Given the description of an element on the screen output the (x, y) to click on. 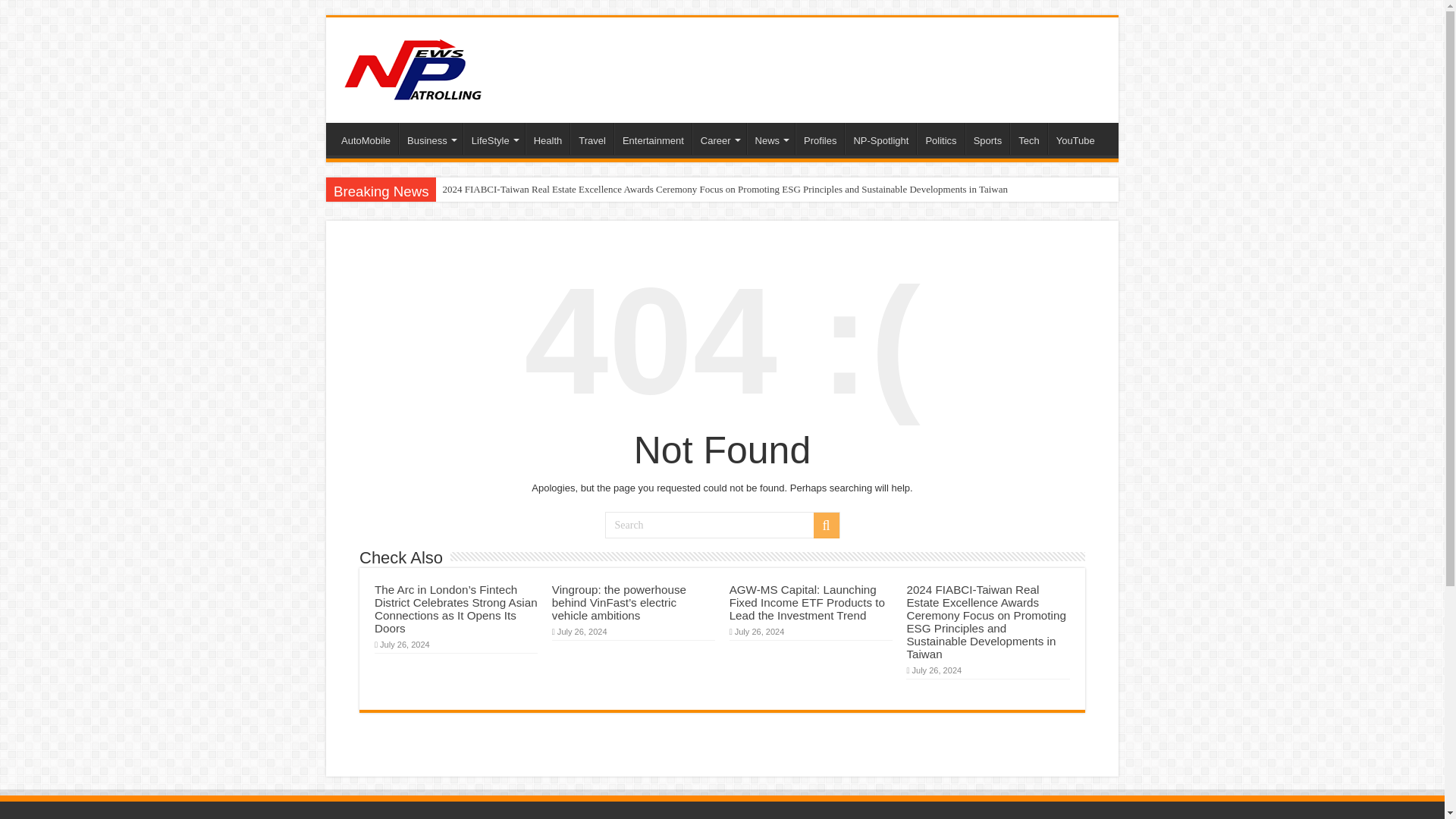
AutoMobile (365, 138)
Search (722, 524)
Health (547, 138)
LifeStyle (493, 138)
Newspatrolling.com (413, 67)
Business (430, 138)
Travel (591, 138)
